Given the description of an element on the screen output the (x, y) to click on. 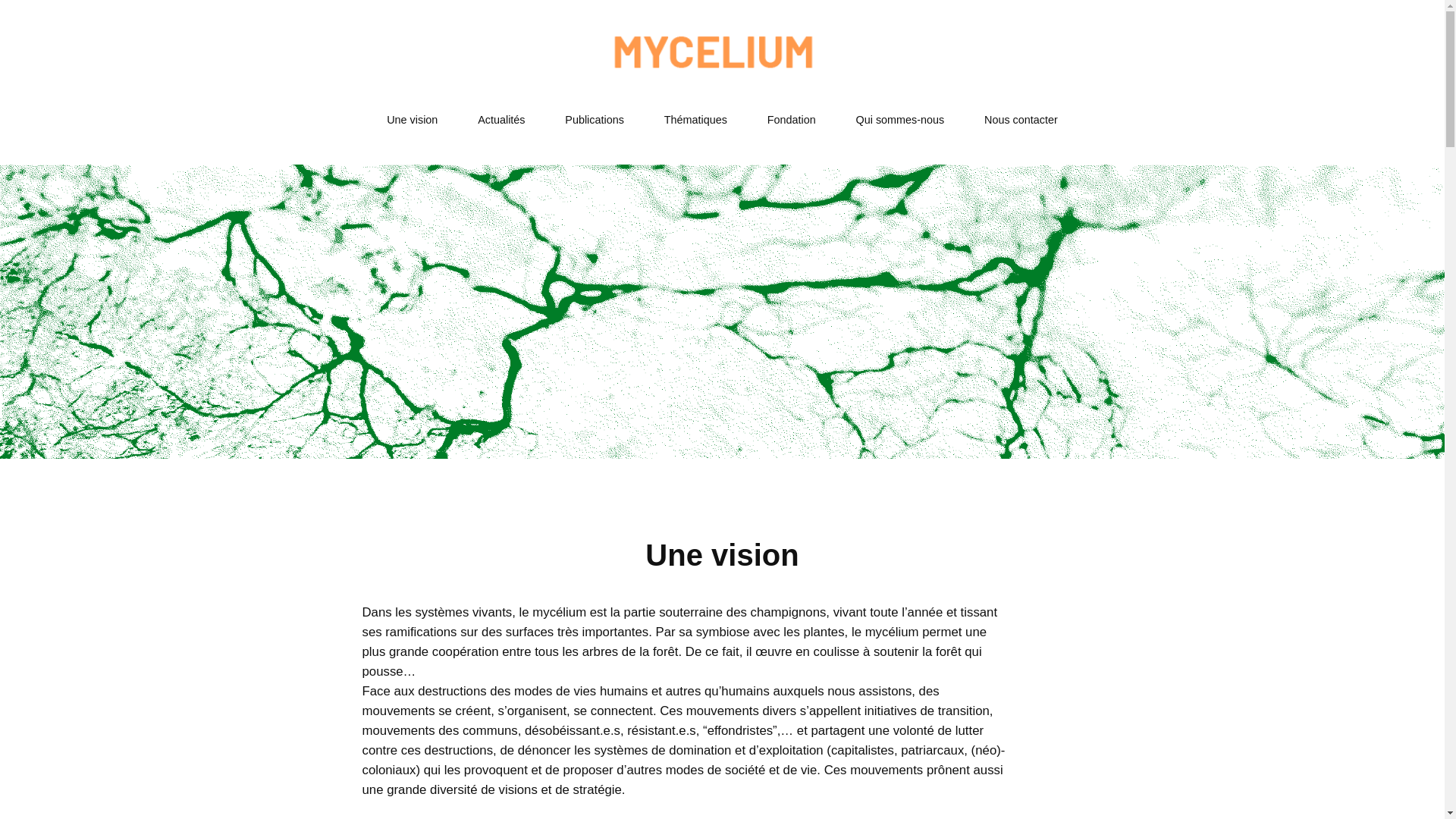
Publications Element type: text (594, 120)
Nous contacter Element type: text (1021, 120)
Qui sommes-nous Element type: text (899, 120)
Une vision Element type: text (412, 120)
Fondation Element type: text (791, 120)
